Given the description of an element on the screen output the (x, y) to click on. 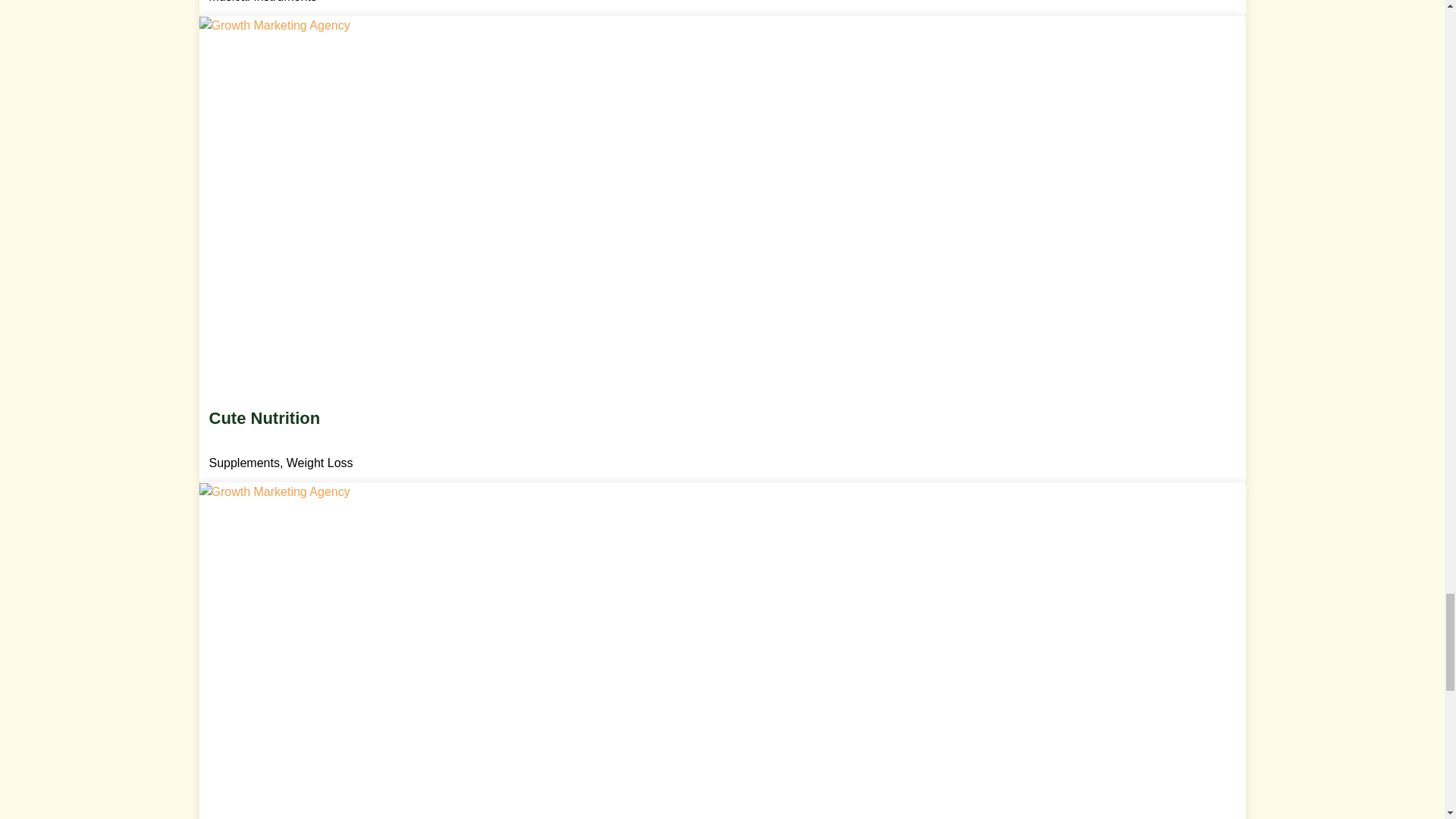
Supplements, Weight Loss (282, 462)
Musical Instruments (264, 1)
Cute Nutrition (722, 438)
